Given the description of an element on the screen output the (x, y) to click on. 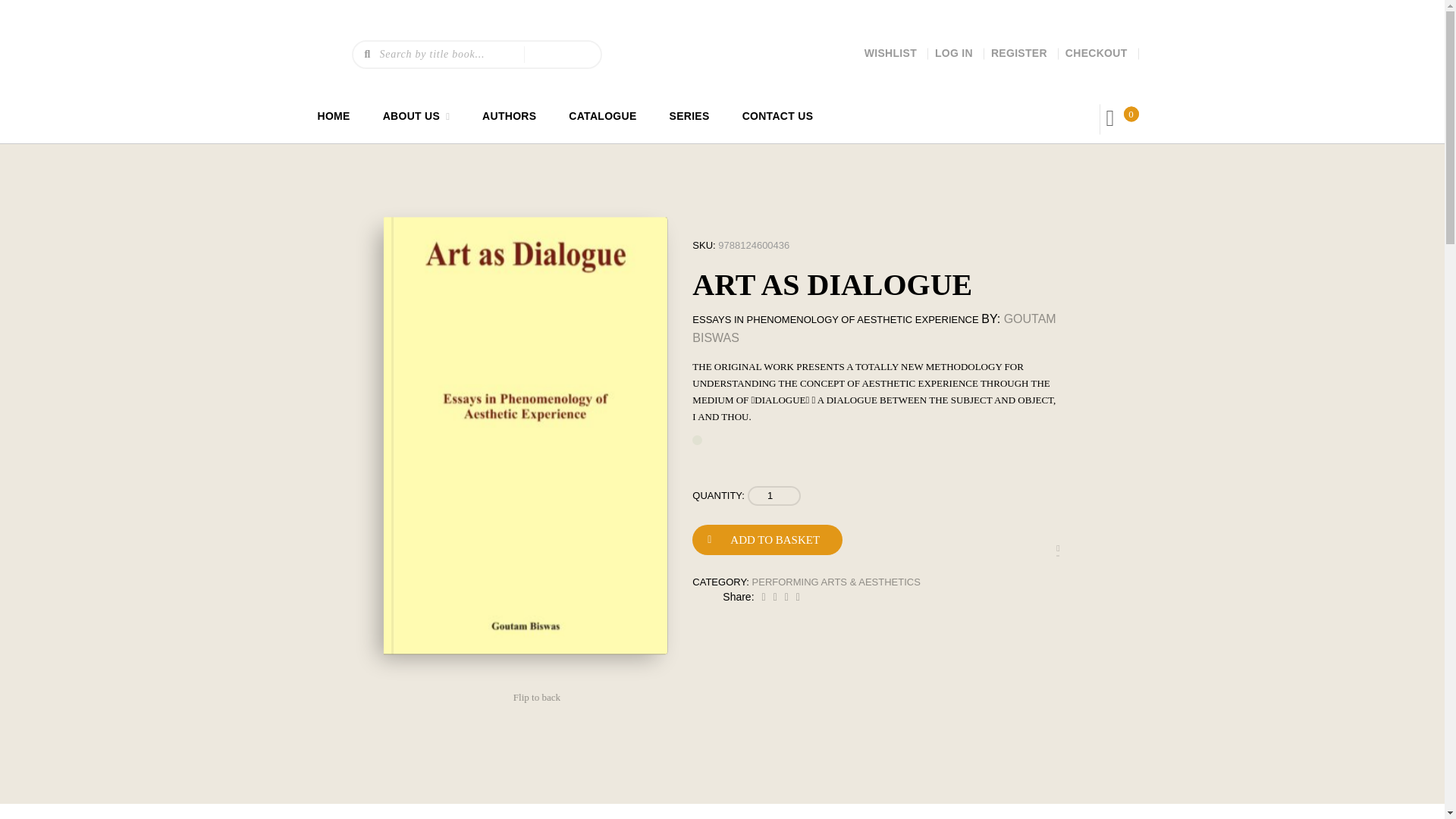
WISHLIST (890, 52)
0 (1131, 113)
CATALOGUE (602, 114)
1 (774, 496)
REGISTER (1018, 52)
Flip to back (536, 697)
AUTHORS (508, 114)
LOG IN (953, 52)
CONTACT US (777, 114)
Qty (774, 496)
CHECKOUT (1095, 52)
ABOUT US (410, 114)
HOME (333, 114)
SERIES (689, 114)
